Given the description of an element on the screen output the (x, y) to click on. 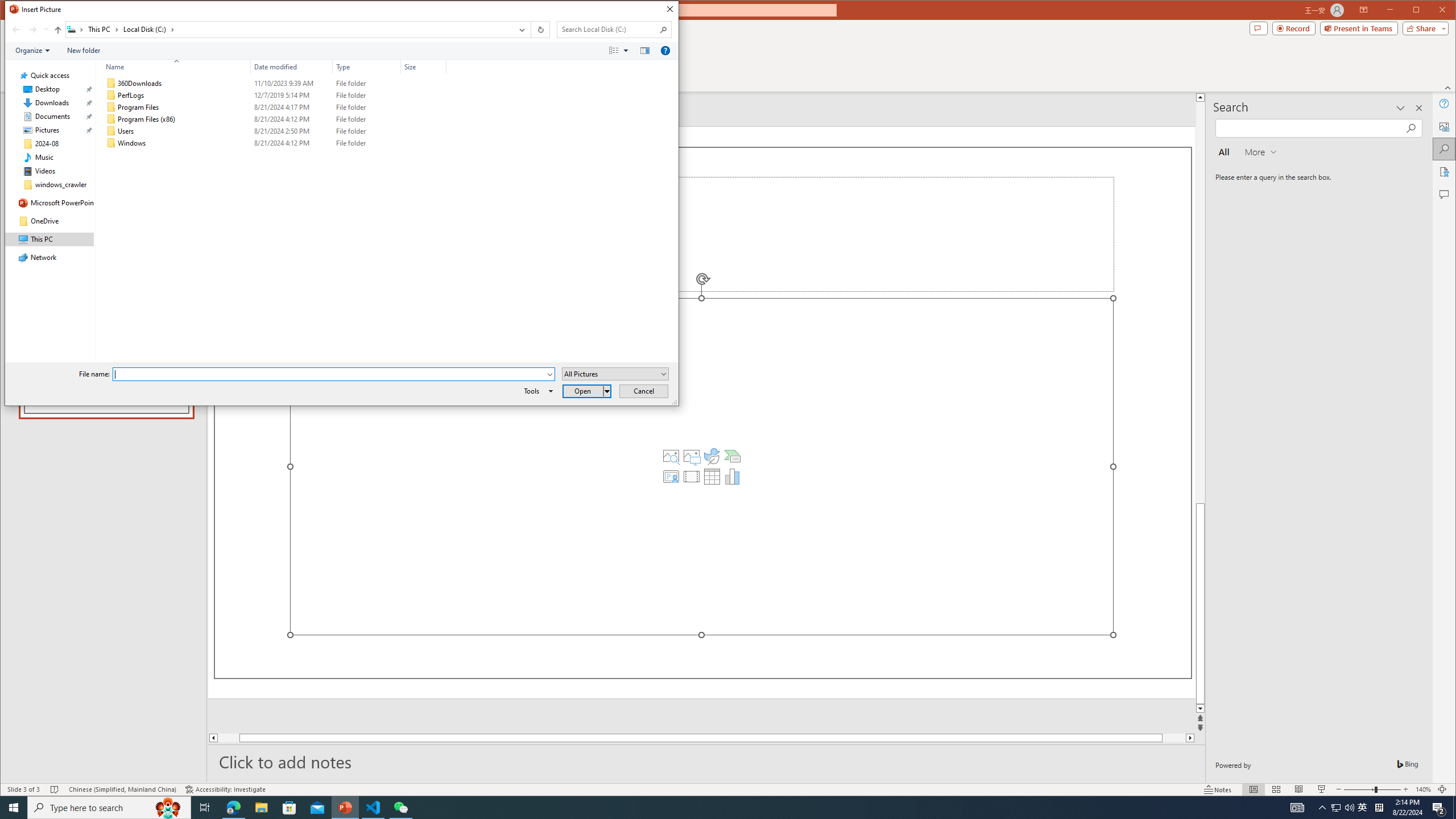
Search Box (608, 29)
Users (273, 131)
Previous Locations (520, 29)
